Given the description of an element on the screen output the (x, y) to click on. 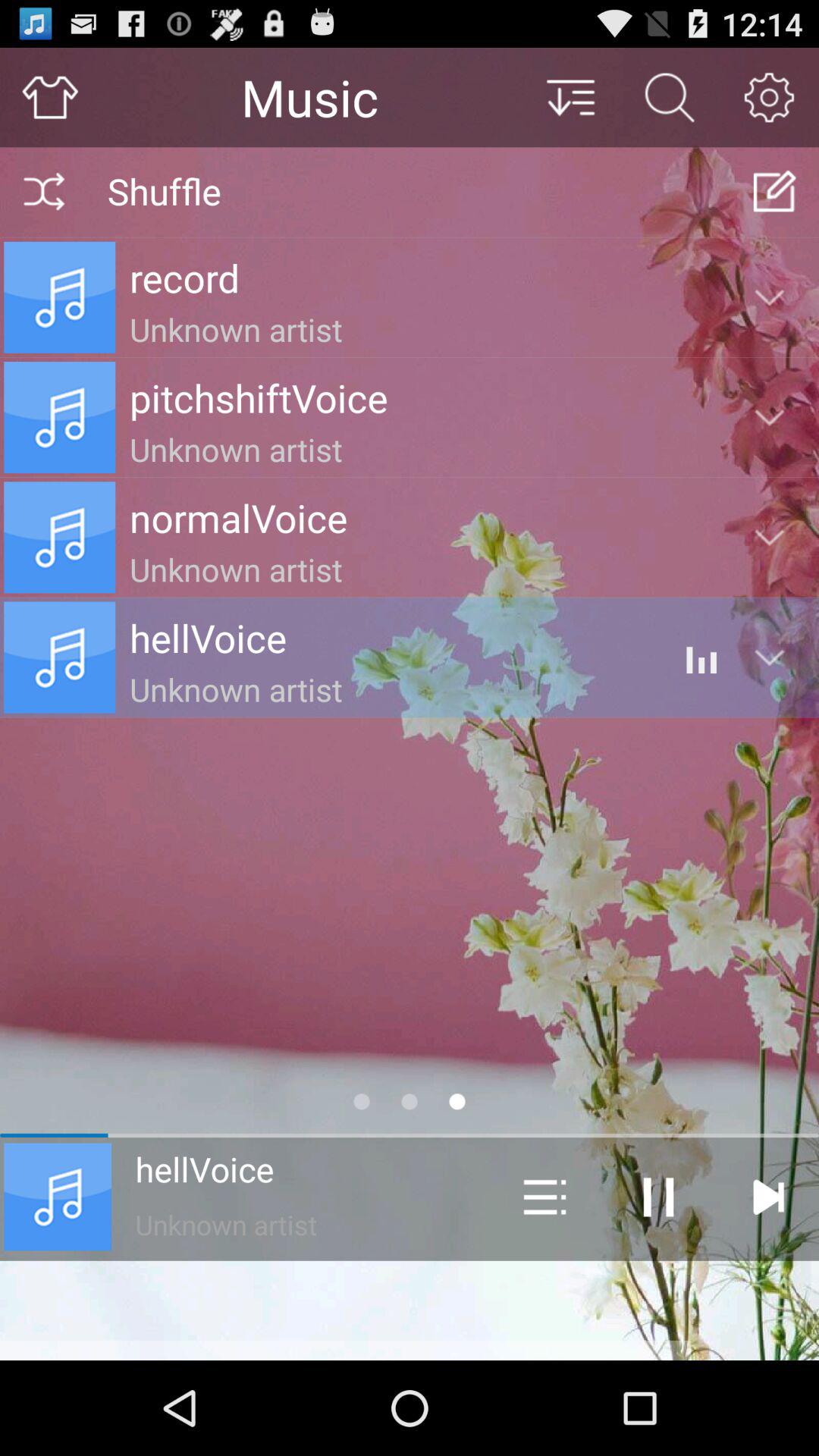
launch icon next to hellvoice app (544, 1197)
